Given the description of an element on the screen output the (x, y) to click on. 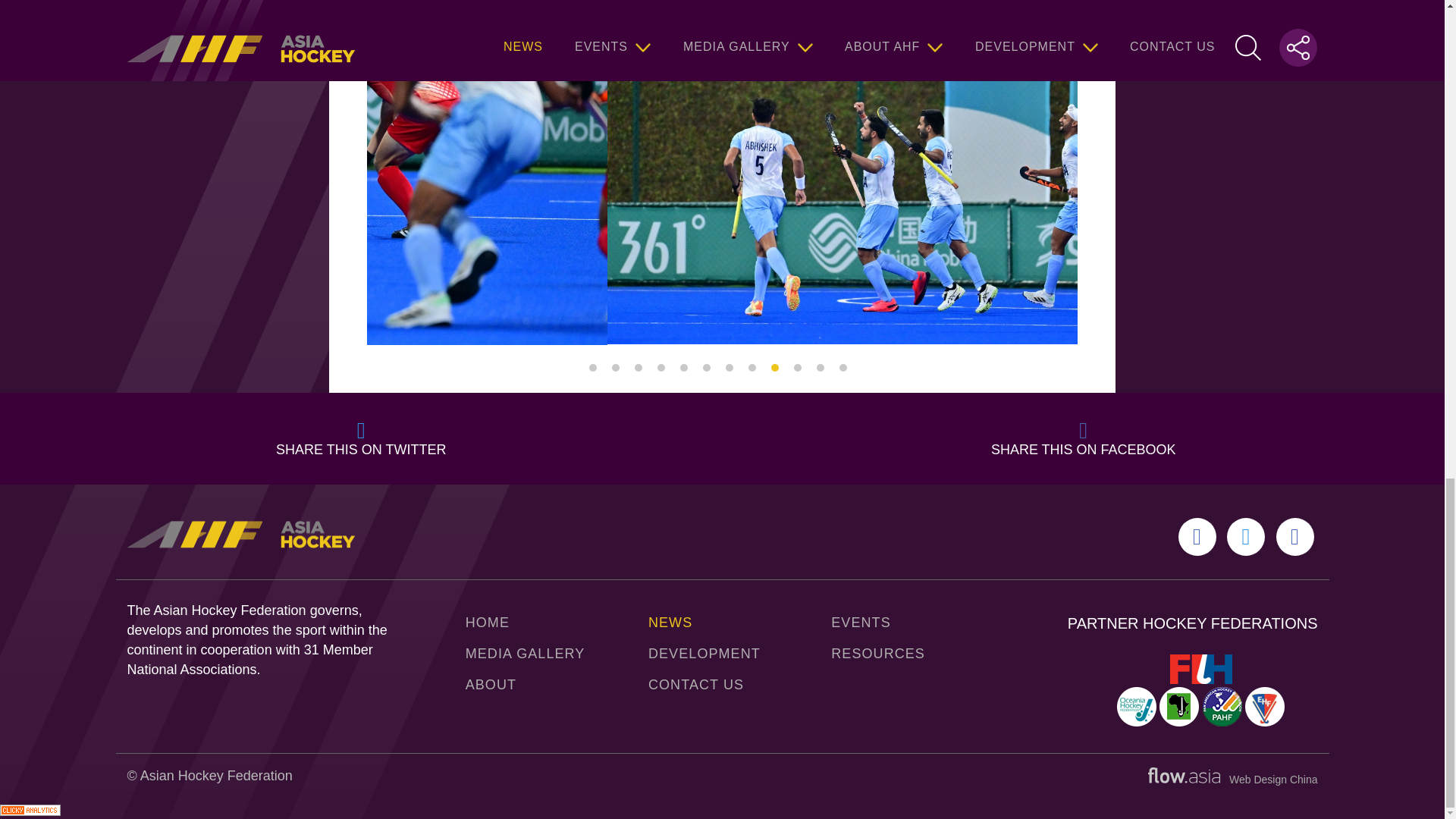
Layer 1 (1184, 774)
Real Time Analytics (30, 811)
